Given the description of an element on the screen output the (x, y) to click on. 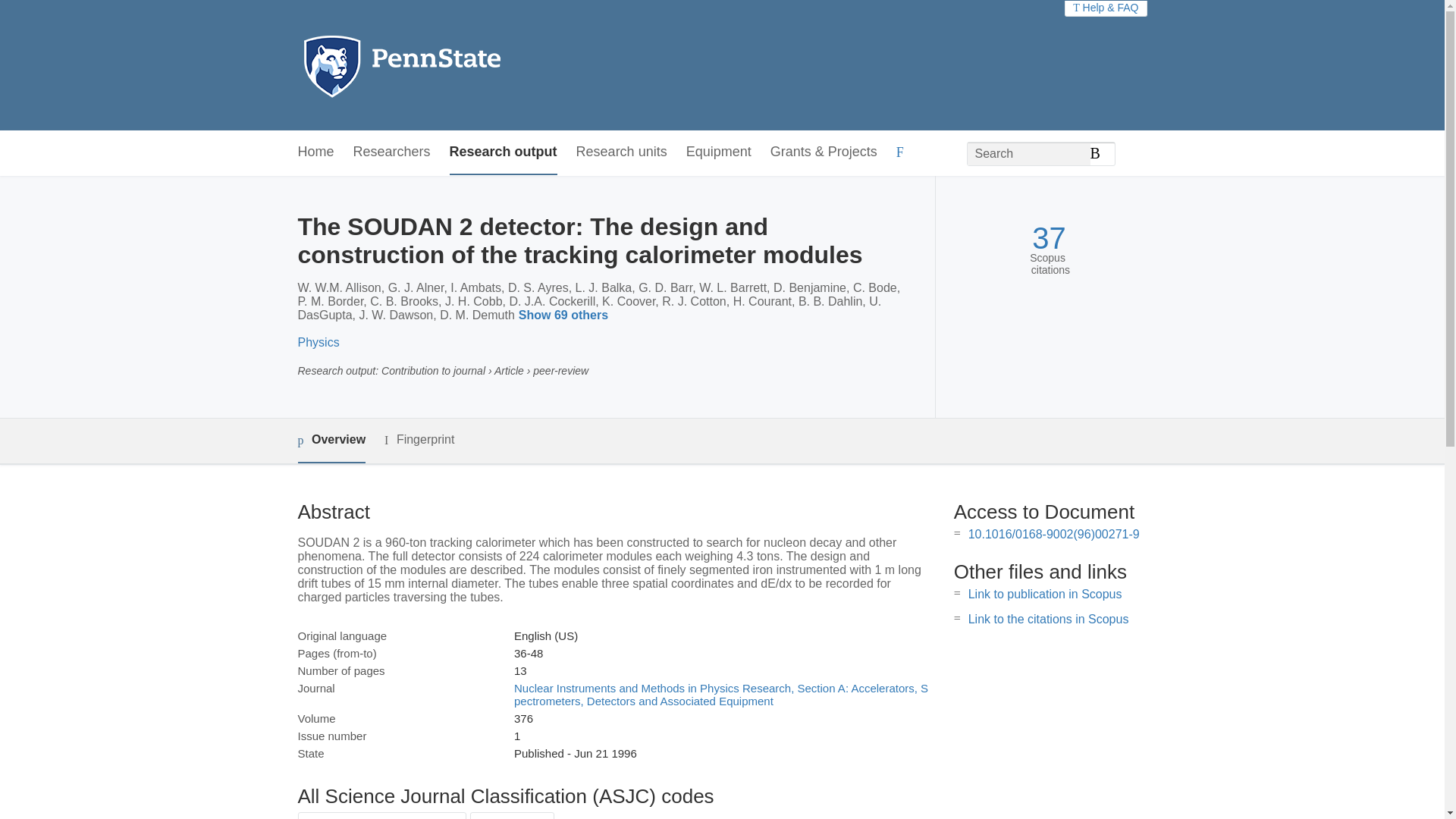
Research output (503, 152)
Research units (621, 152)
Link to publication in Scopus (1045, 594)
Fingerprint (419, 439)
Show 69 others (566, 315)
Penn State Home (467, 65)
Physics (318, 341)
Link to the citations in Scopus (1048, 618)
Equipment (718, 152)
